Given the description of an element on the screen output the (x, y) to click on. 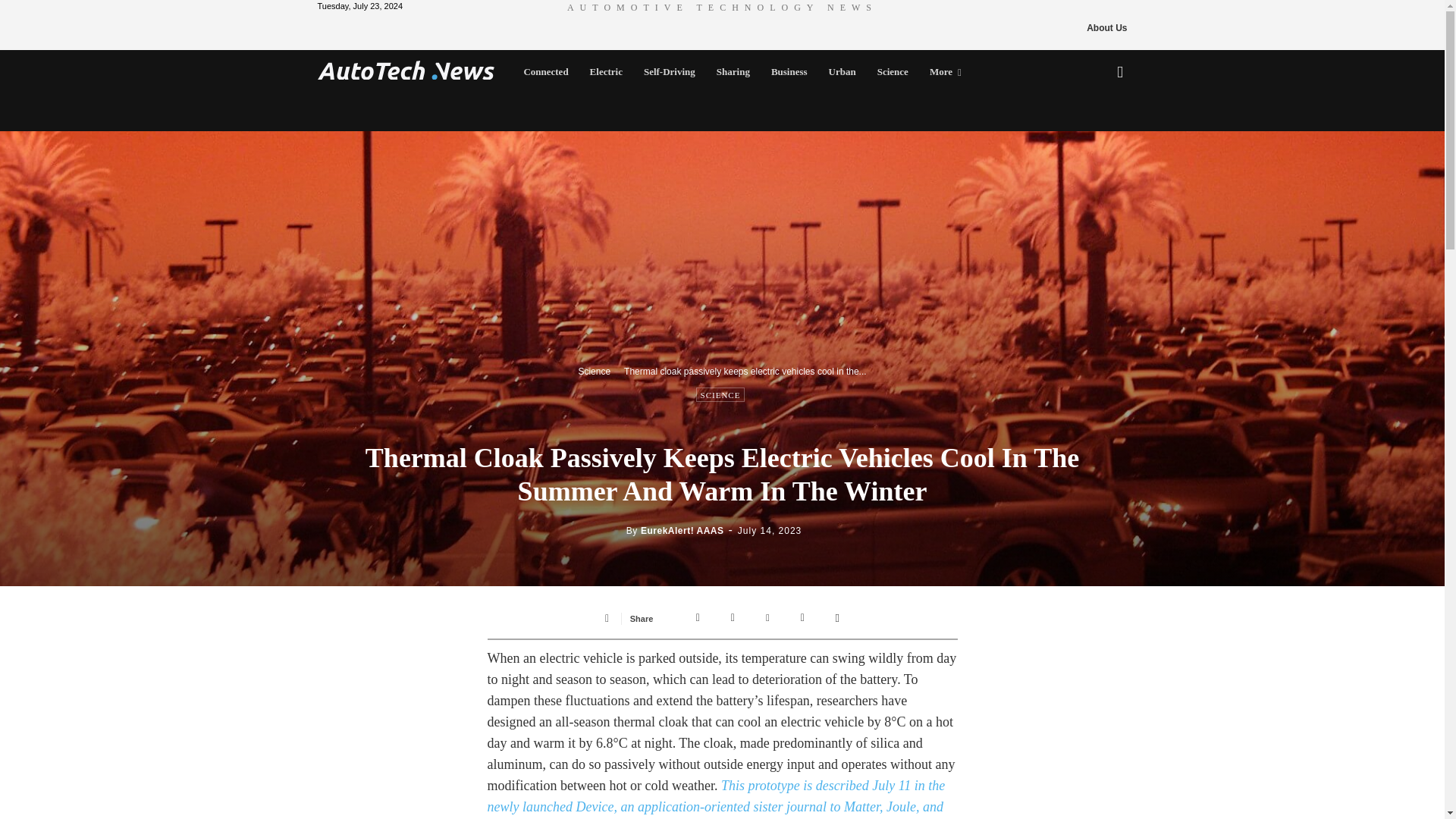
Pinterest (767, 617)
View all posts in Science (594, 371)
Electric (606, 71)
AUTOMOTIVE TECHNOLOGY NEWS (722, 6)
Facebook (697, 617)
Twitter (732, 617)
Urban (842, 71)
Self-Driving (669, 71)
About Us (1106, 27)
Sharing (733, 71)
More (945, 71)
Connected (545, 71)
Email (836, 617)
Linkedin (801, 617)
Business (789, 71)
